Given the description of an element on the screen output the (x, y) to click on. 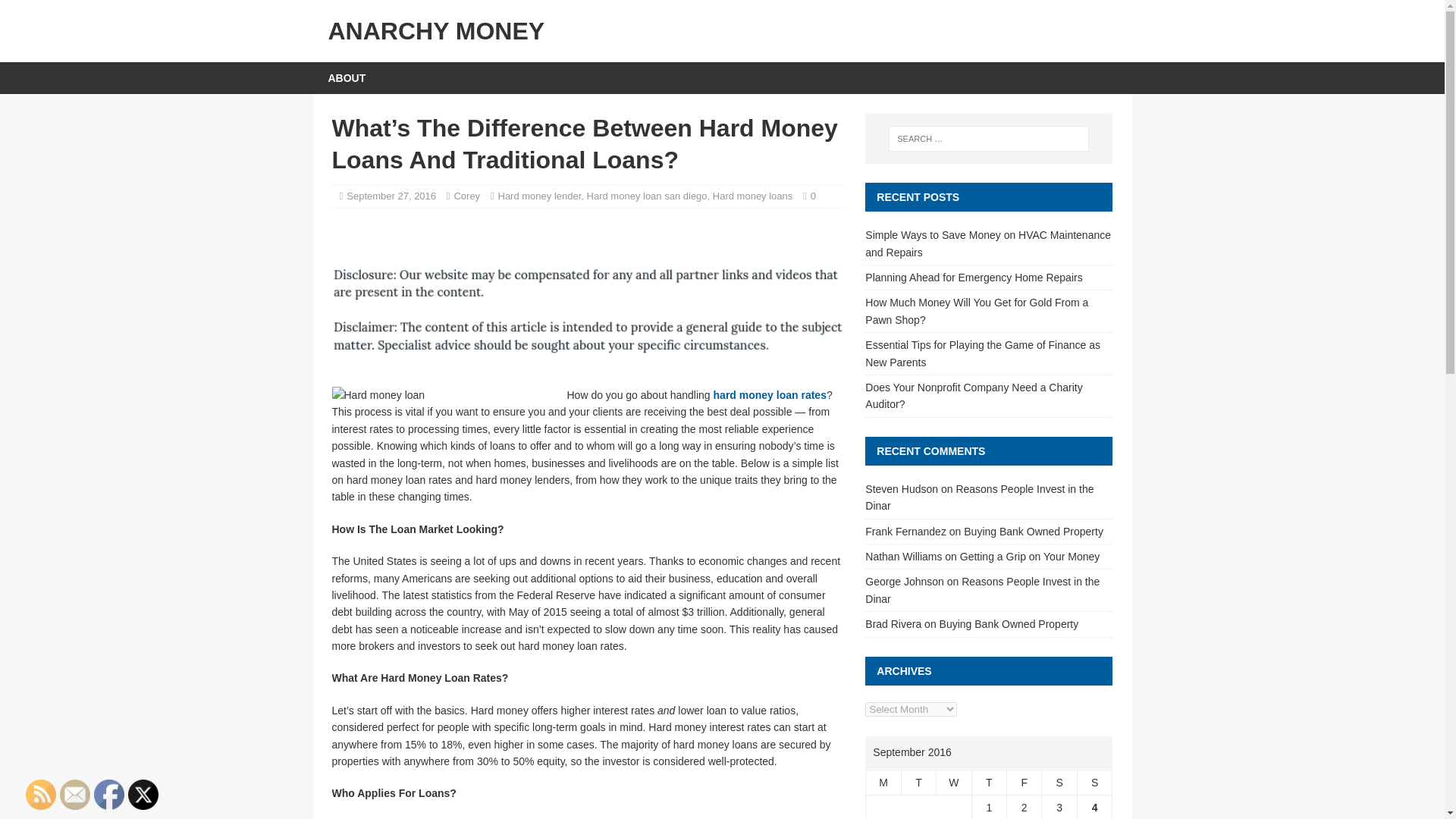
4 (1094, 807)
ABOUT (346, 78)
Frank Fernandez (905, 531)
Tuesday (918, 781)
Does Your Nonprofit Company Need a Charity Auditor? (972, 395)
How Much Money Will You Get for Gold From a Pawn Shop? (975, 310)
Hard money lender (538, 195)
Reasons People Invest in the Dinar (978, 497)
Buying Bank Owned Property (1033, 531)
Nathan Williams (903, 556)
Steven Hudson (900, 489)
ANARCHY MONEY (721, 30)
0 (812, 195)
September 27, 2016 (390, 195)
Monday (883, 781)
